Given the description of an element on the screen output the (x, y) to click on. 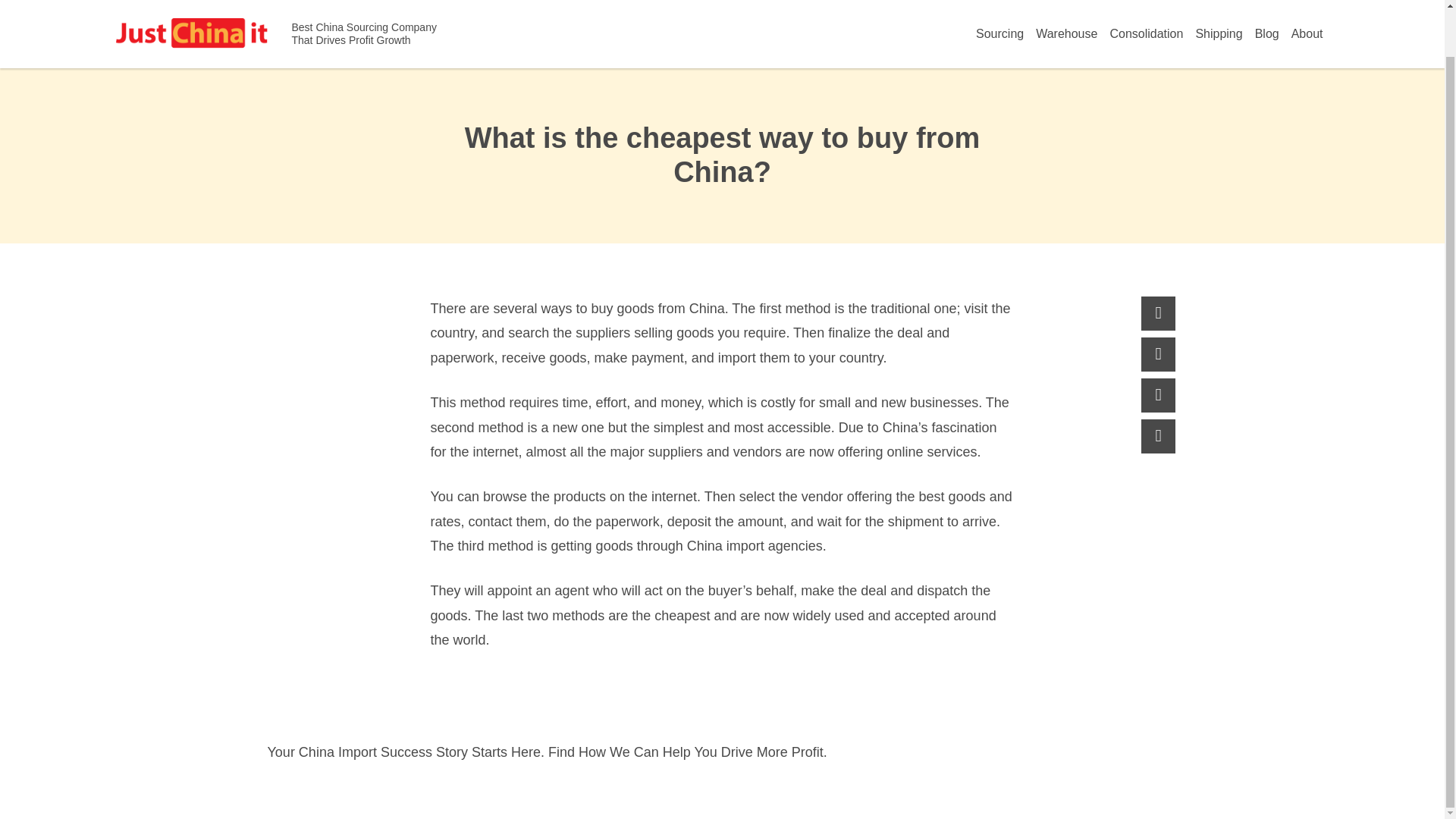
Consolidation (1146, 33)
Blog (1267, 33)
About (1307, 33)
Sourcing (999, 33)
Shipping (1218, 33)
Warehouse (1066, 33)
